Given the description of an element on the screen output the (x, y) to click on. 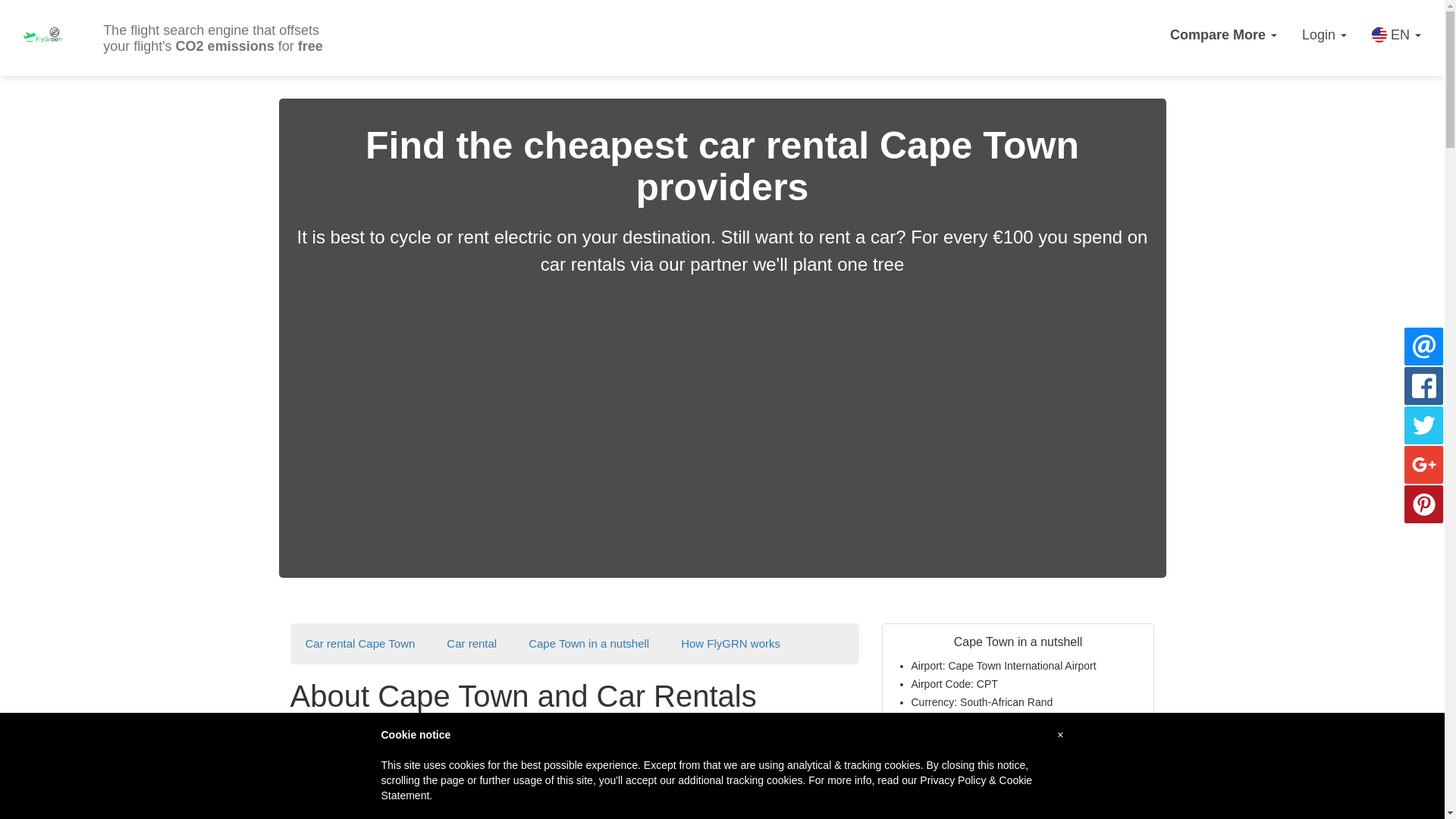
Cape Town in a nutshell (588, 643)
Car rental Cape Town (360, 643)
Car rental Cape Town (360, 643)
South Africa (982, 720)
Sustainable Guide Cape Town (982, 756)
Cape Town in a nutshell (1018, 810)
TWITTER (588, 643)
Car rental (1423, 425)
Compare More (471, 643)
Car rental - Cape Town (1223, 34)
FACEBOOK (471, 643)
EMAIL (1423, 385)
Car rental - FlyGRN (1423, 346)
